Given the description of an element on the screen output the (x, y) to click on. 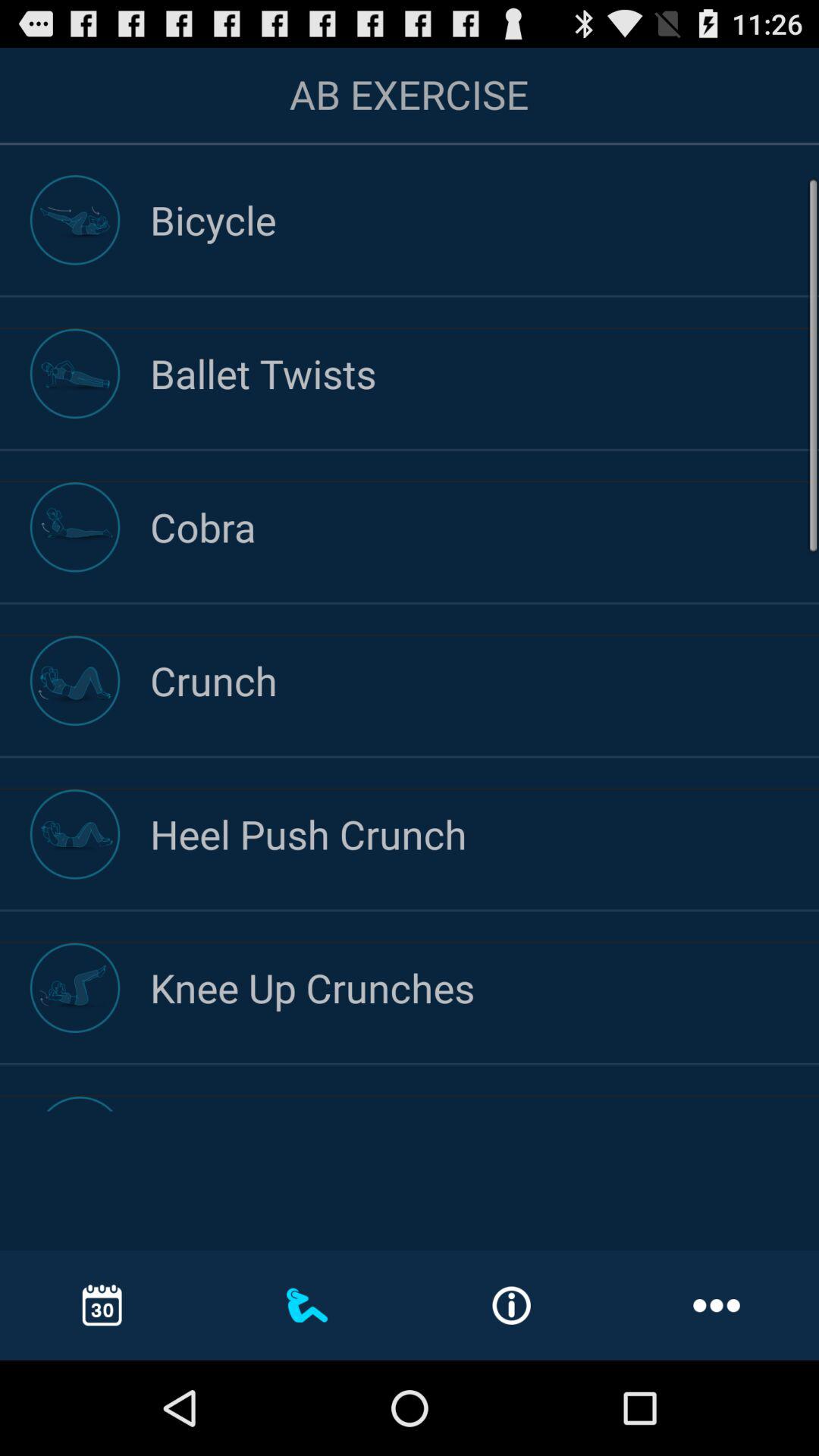
swipe to bicycle icon (484, 219)
